Given the description of an element on the screen output the (x, y) to click on. 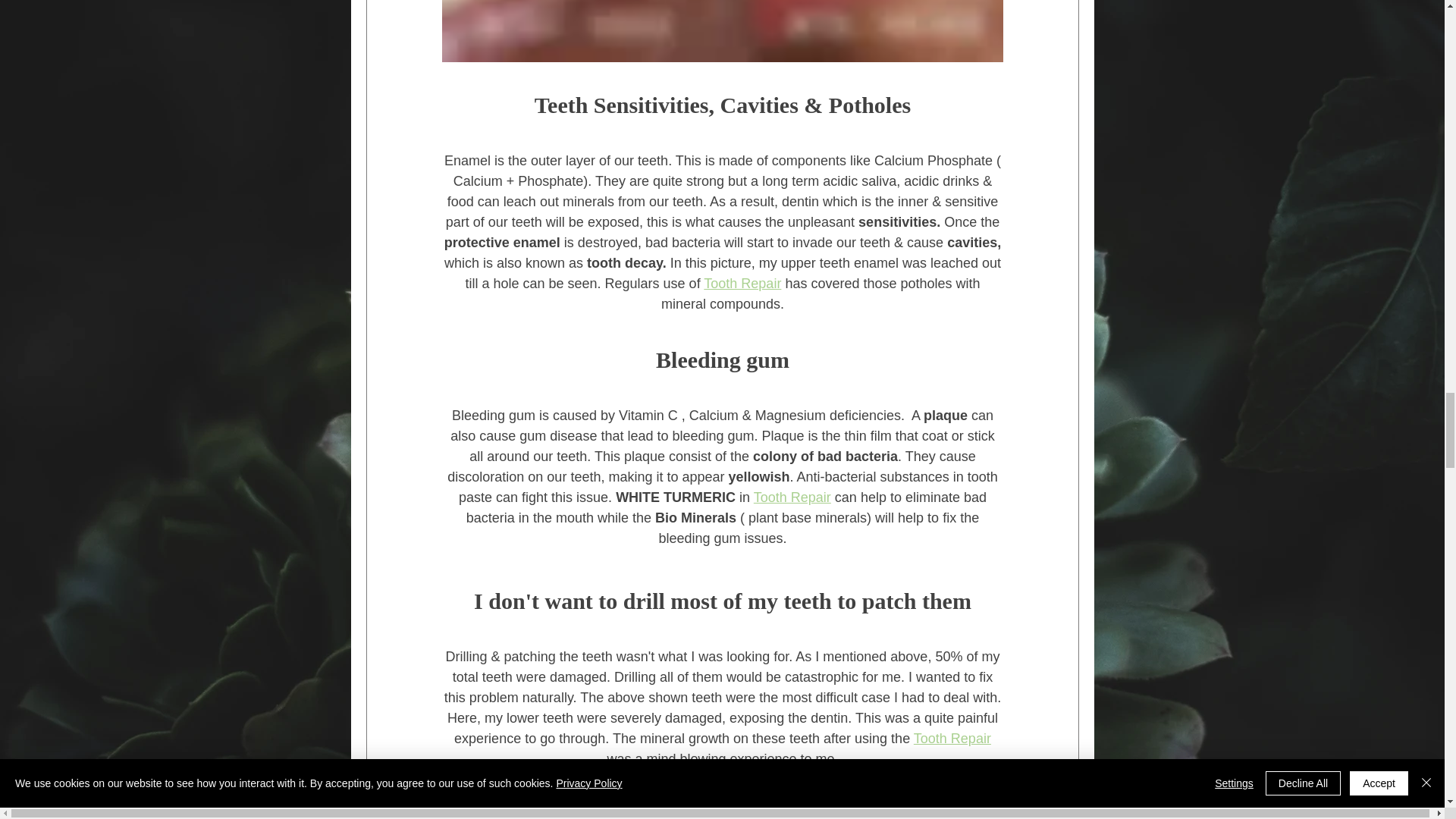
Tooth Repair (951, 738)
Tooth Repair (741, 283)
Tooth Repair (790, 497)
